Given the description of an element on the screen output the (x, y) to click on. 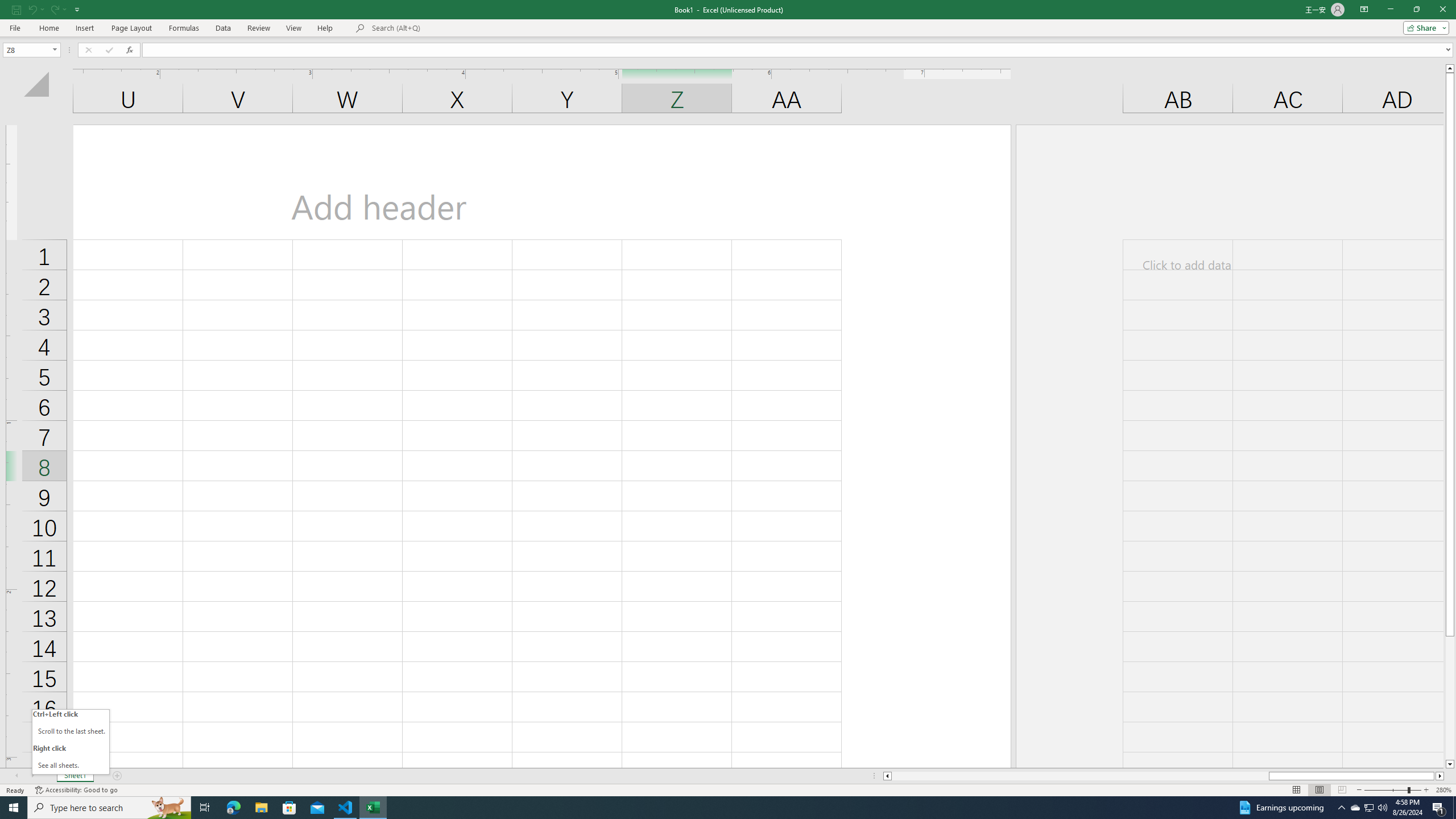
Class: MsoCommandBar (728, 18)
Formula Bar (798, 49)
